Given the description of an element on the screen output the (x, y) to click on. 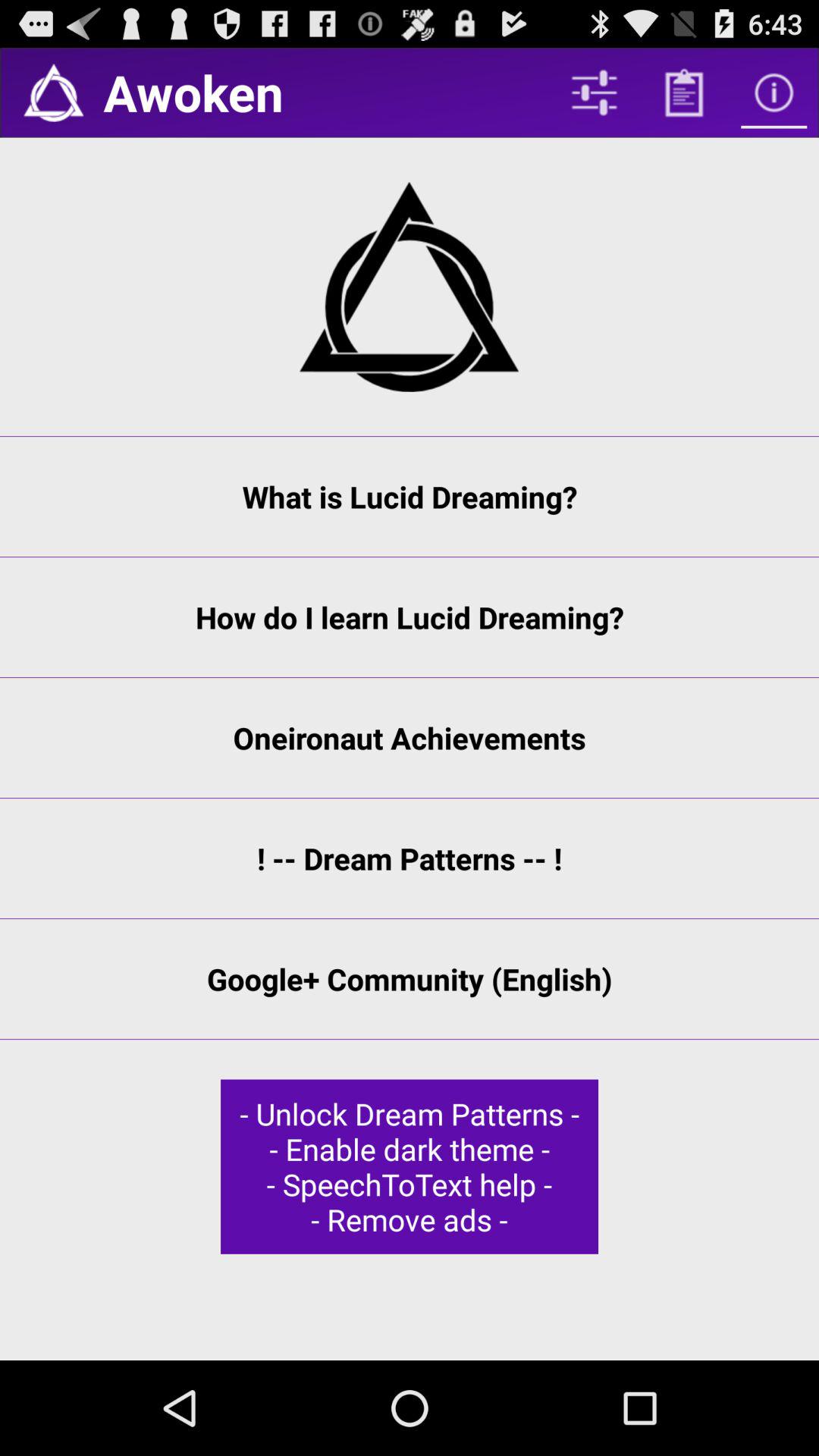
swipe until what is lucid item (409, 496)
